Given the description of an element on the screen output the (x, y) to click on. 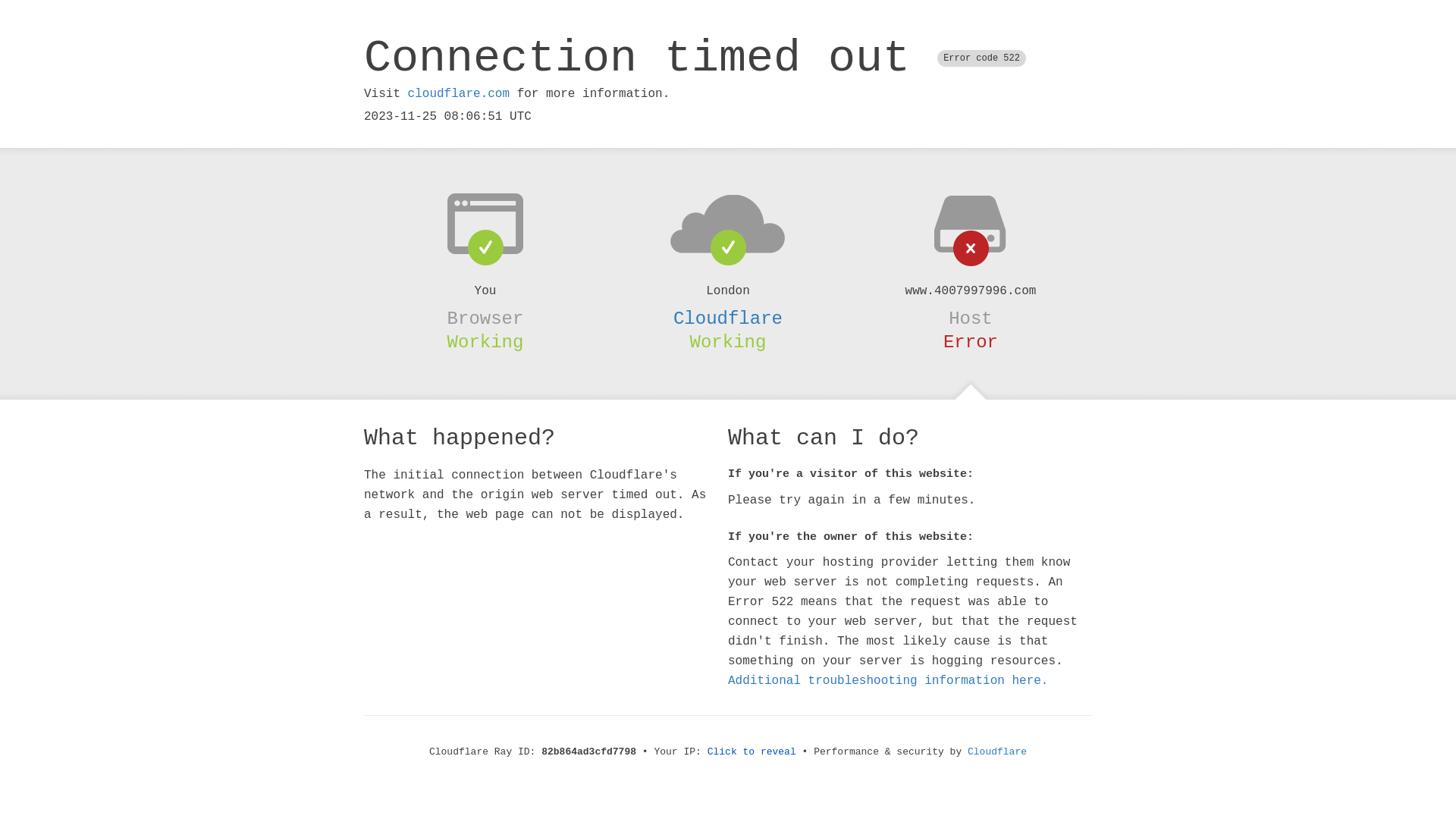
Click to reveal Element type: text (751, 751)
Additional troubleshooting information here. Element type: text (888, 680)
Cloudflare Element type: text (996, 751)
cloudflare.com Element type: text (458, 93)
Cloudflare Element type: text (727, 318)
